Given the description of an element on the screen output the (x, y) to click on. 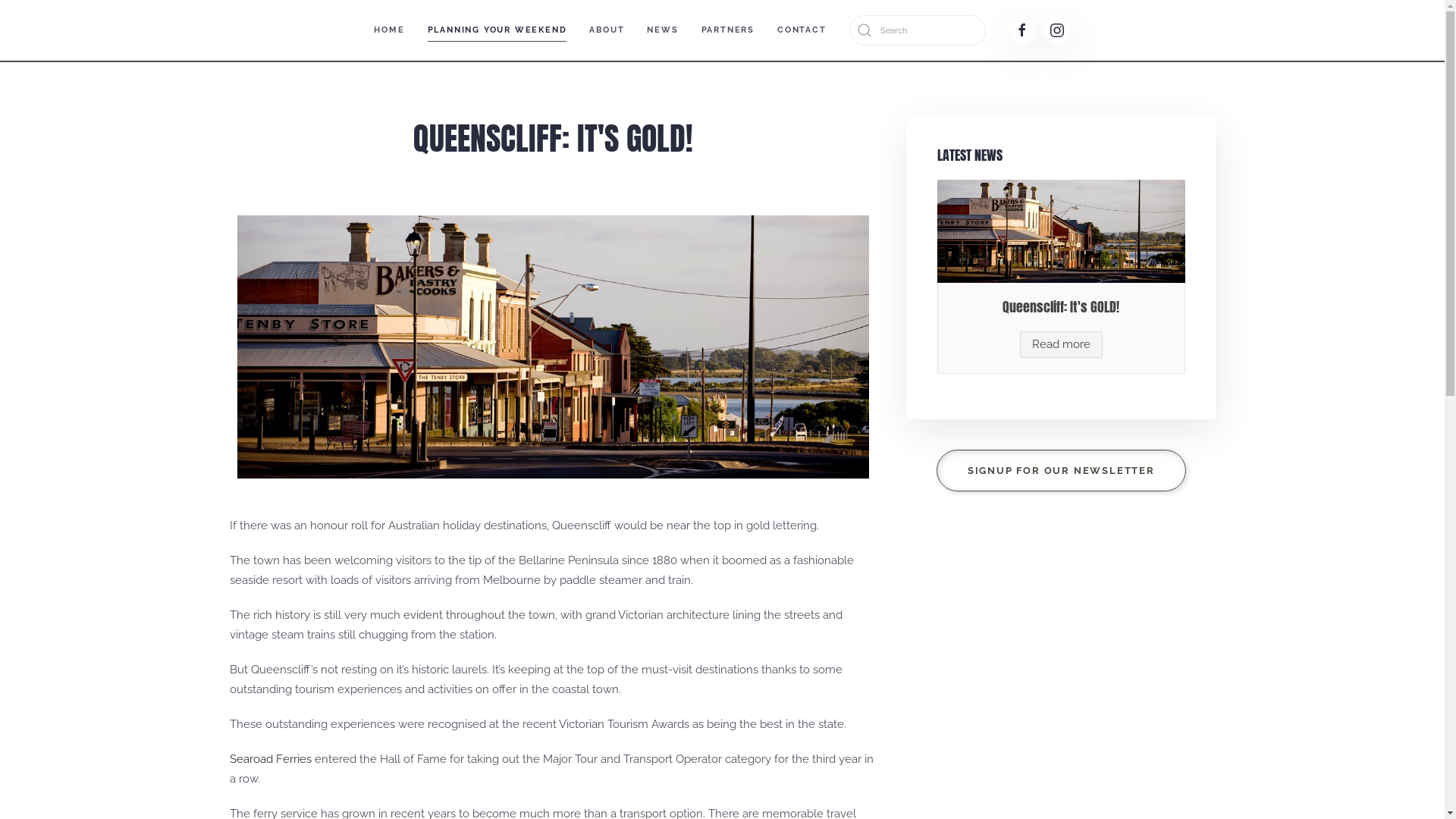
NEWS Element type: text (662, 30)
PARTNERS Element type: text (727, 30)
CONTACT Element type: text (801, 30)
Queenscliff: It's GOLD! Element type: text (1060, 306)
ABOUT Element type: text (606, 30)
Searoad Ferries Element type: text (269, 758)
HOME Element type: text (388, 30)
Read more Element type: text (1060, 344)
SIGNUP FOR OUR NEWSLETTER Element type: text (1061, 470)
PLANNING YOUR WEEKEND Element type: text (497, 30)
